Given the description of an element on the screen output the (x, y) to click on. 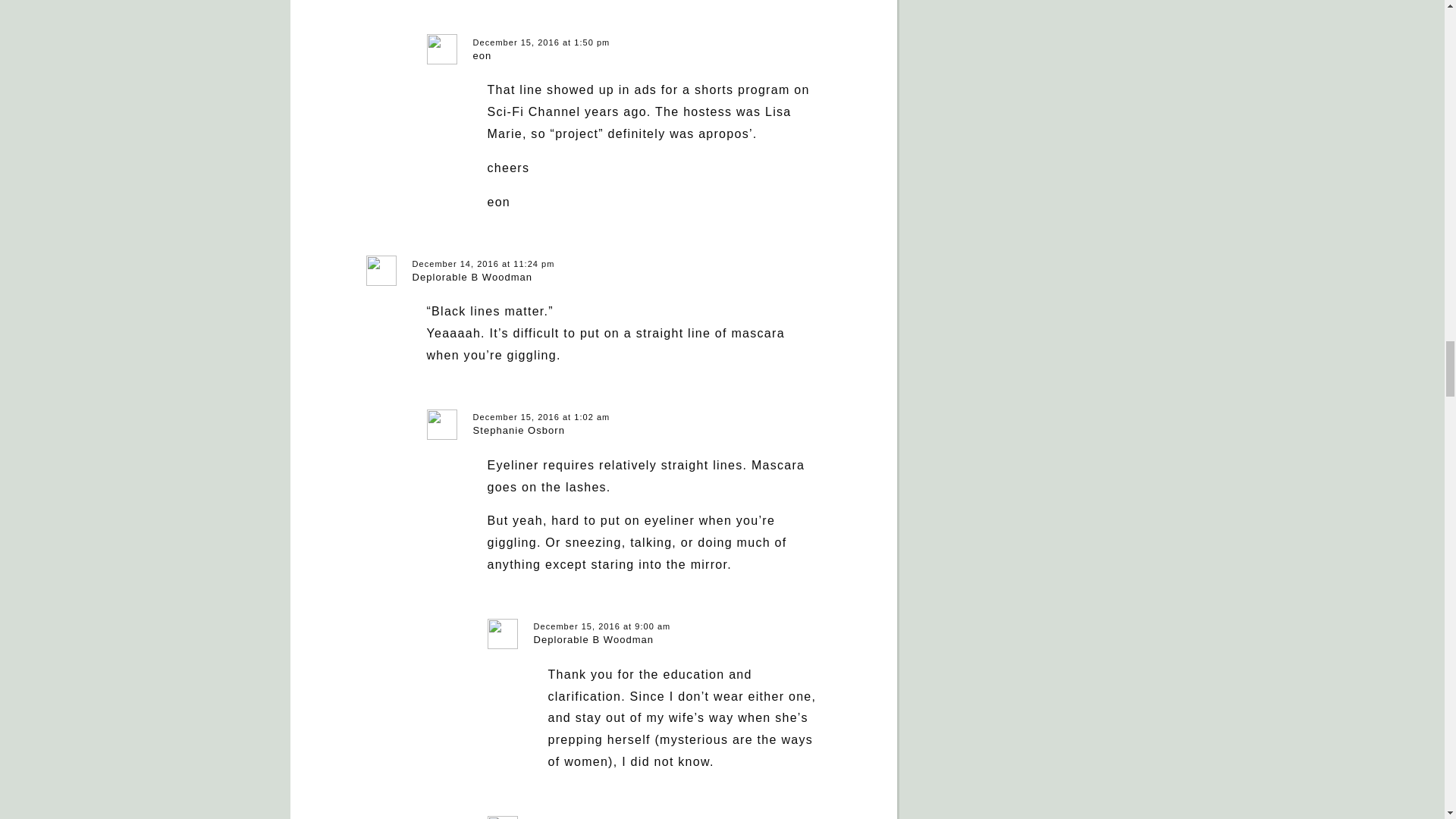
Stephanie Osborn (518, 430)
